Given the description of an element on the screen output the (x, y) to click on. 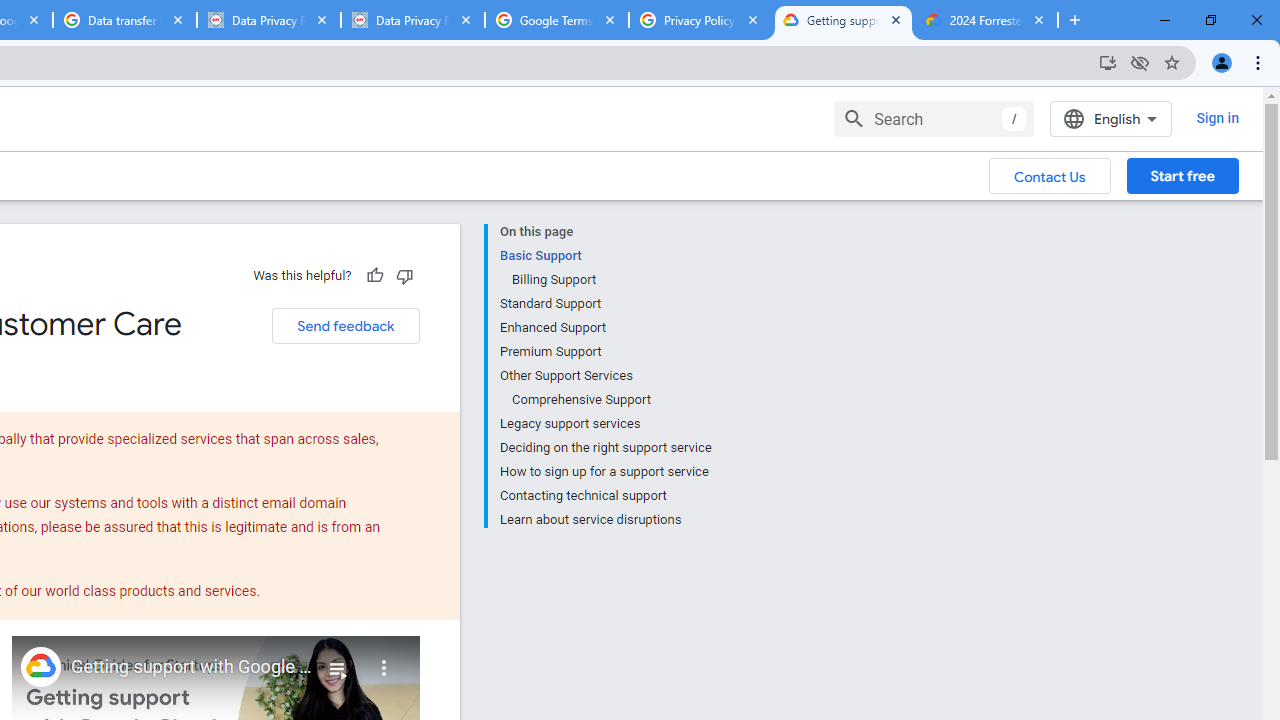
Data Privacy Framework (268, 20)
Contacting technical support (605, 495)
Billing Support (610, 279)
Send feedback (345, 326)
More (384, 660)
Basic Support (605, 255)
Contact Us (1050, 175)
Enhanced Support (605, 327)
Comprehensive Support (610, 399)
Third-party cookies blocked (1139, 62)
